Given the description of an element on the screen output the (x, y) to click on. 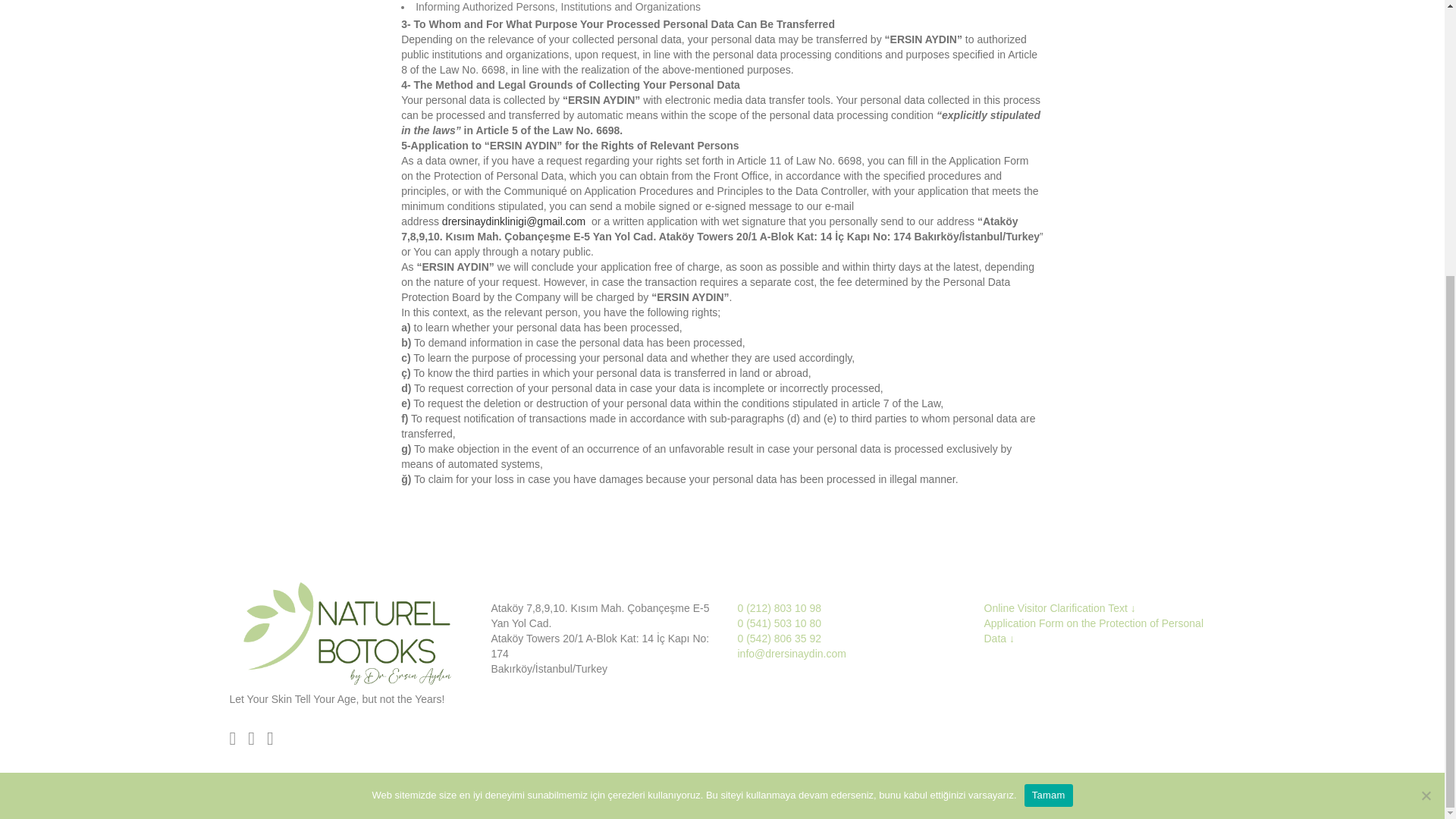
Online Visitor Clarification Text (1057, 607)
Tamam (1049, 387)
Application Form on the Protection of Personal Data (1094, 630)
